Given the description of an element on the screen output the (x, y) to click on. 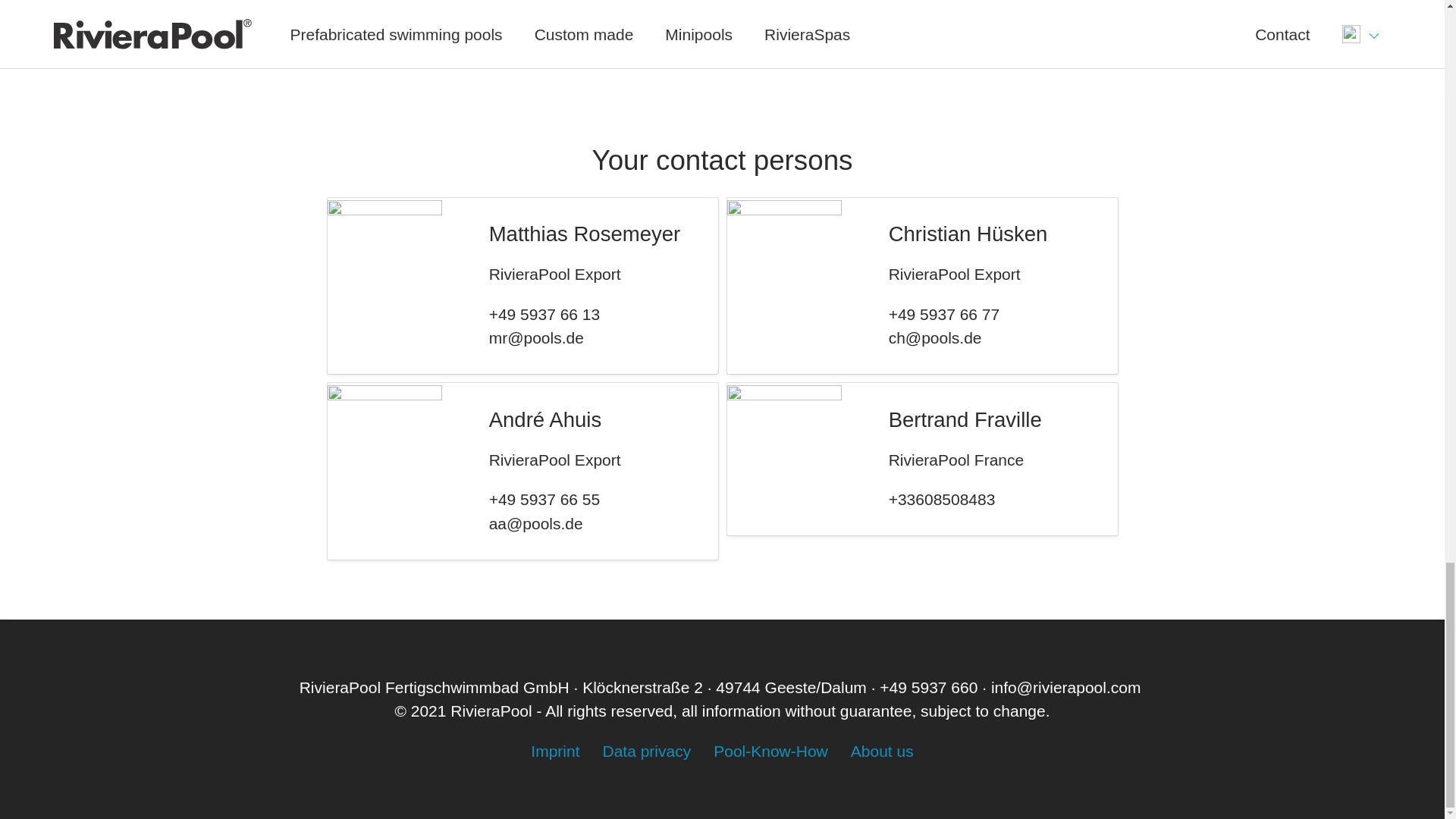
Imprint (555, 751)
Pool-Know-How (770, 751)
Data privacy (646, 751)
Pool-Know-How (770, 751)
Data privacy (646, 751)
About us (882, 751)
Imprint (555, 751)
About us (882, 751)
